Given the description of an element on the screen output the (x, y) to click on. 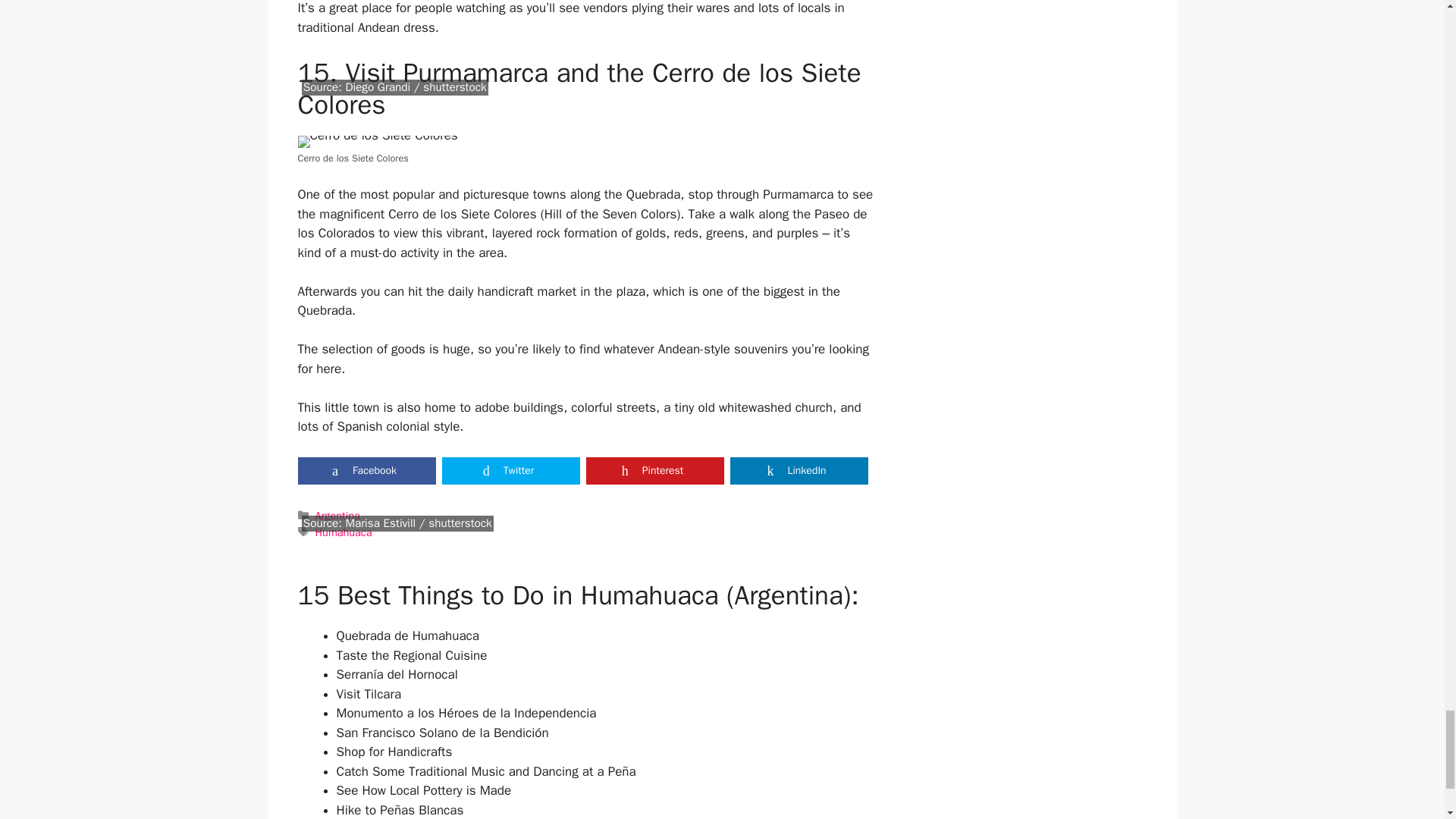
Share on Twitter (510, 470)
Share on Pinterest (654, 470)
Share on LinkedIn (798, 470)
Twitter (510, 470)
Share on Facebook (366, 470)
Facebook (366, 470)
LinkedIn (798, 470)
Pinterest (654, 470)
Argentina (337, 515)
